Given the description of an element on the screen output the (x, y) to click on. 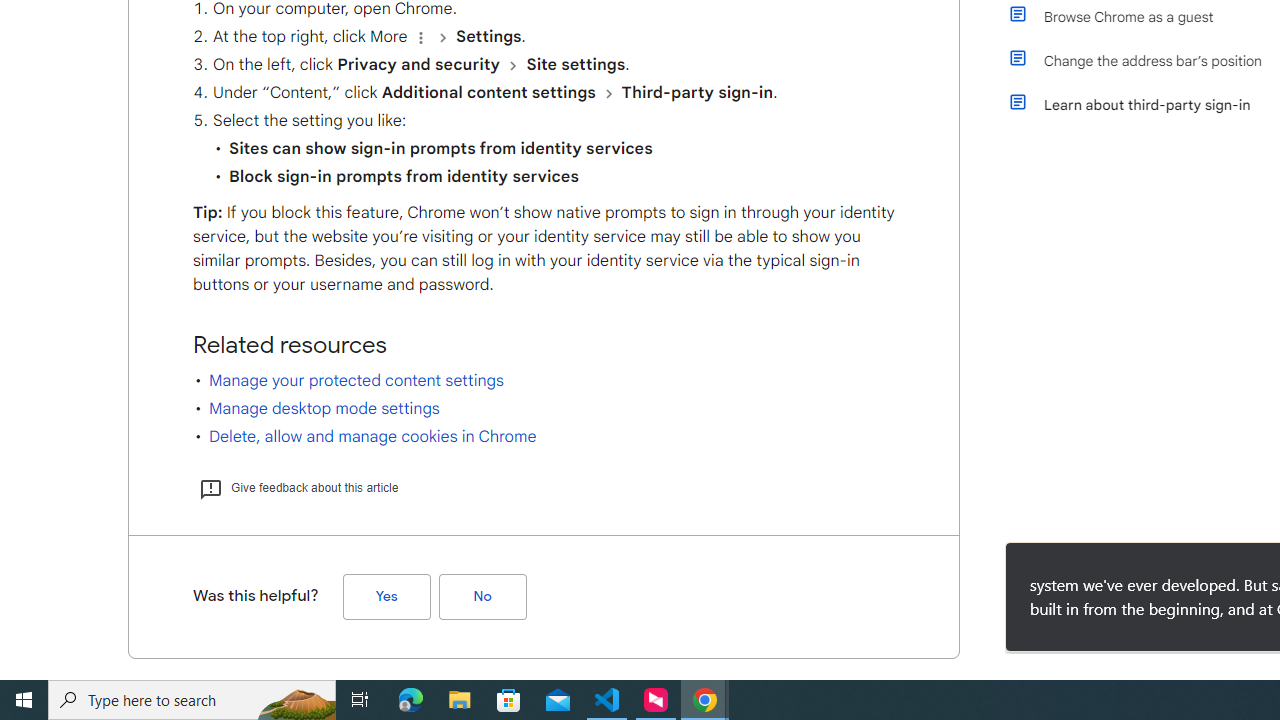
Delete, allow and manage cookies in Chrome (372, 436)
Manage desktop mode settings (324, 408)
Yes (Was this helpful?) (386, 596)
and then (608, 93)
Organize (420, 37)
No (Was this helpful?) (482, 596)
Give feedback about this article (298, 487)
Manage your protected content settings (356, 380)
